Given the description of an element on the screen output the (x, y) to click on. 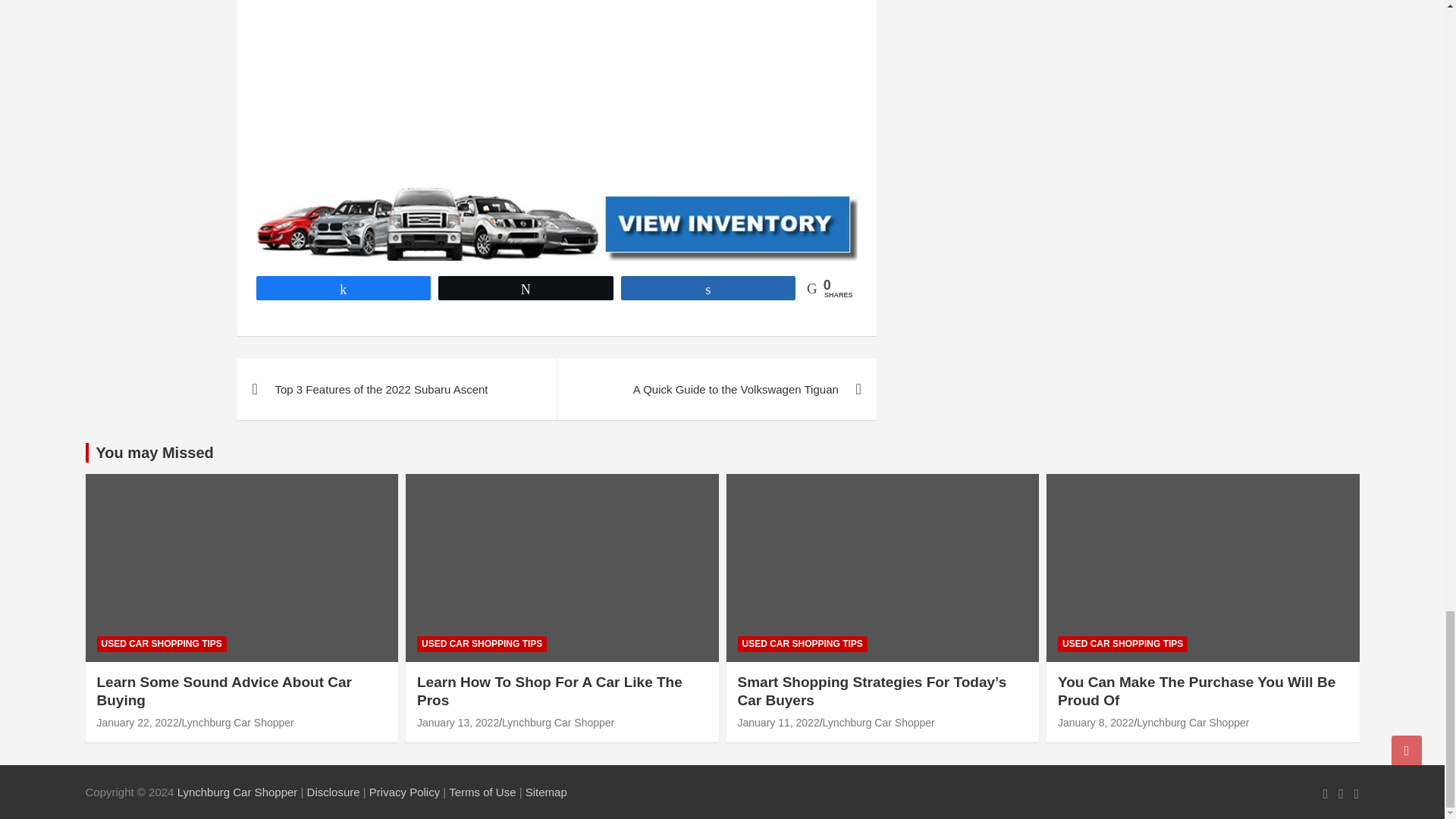
Learn How To Shop For A Car Like The Pros (457, 722)
You Can Make The Purchase You Will Be Proud Of (1096, 722)
Learn Some Sound Advice About Car Buying (138, 722)
Top 3 Features of the 2022 Subaru Ascent (395, 389)
Lynchburg Car Shopper (237, 791)
A Quick Guide to the Volkswagen Tiguan (716, 389)
